Given the description of an element on the screen output the (x, y) to click on. 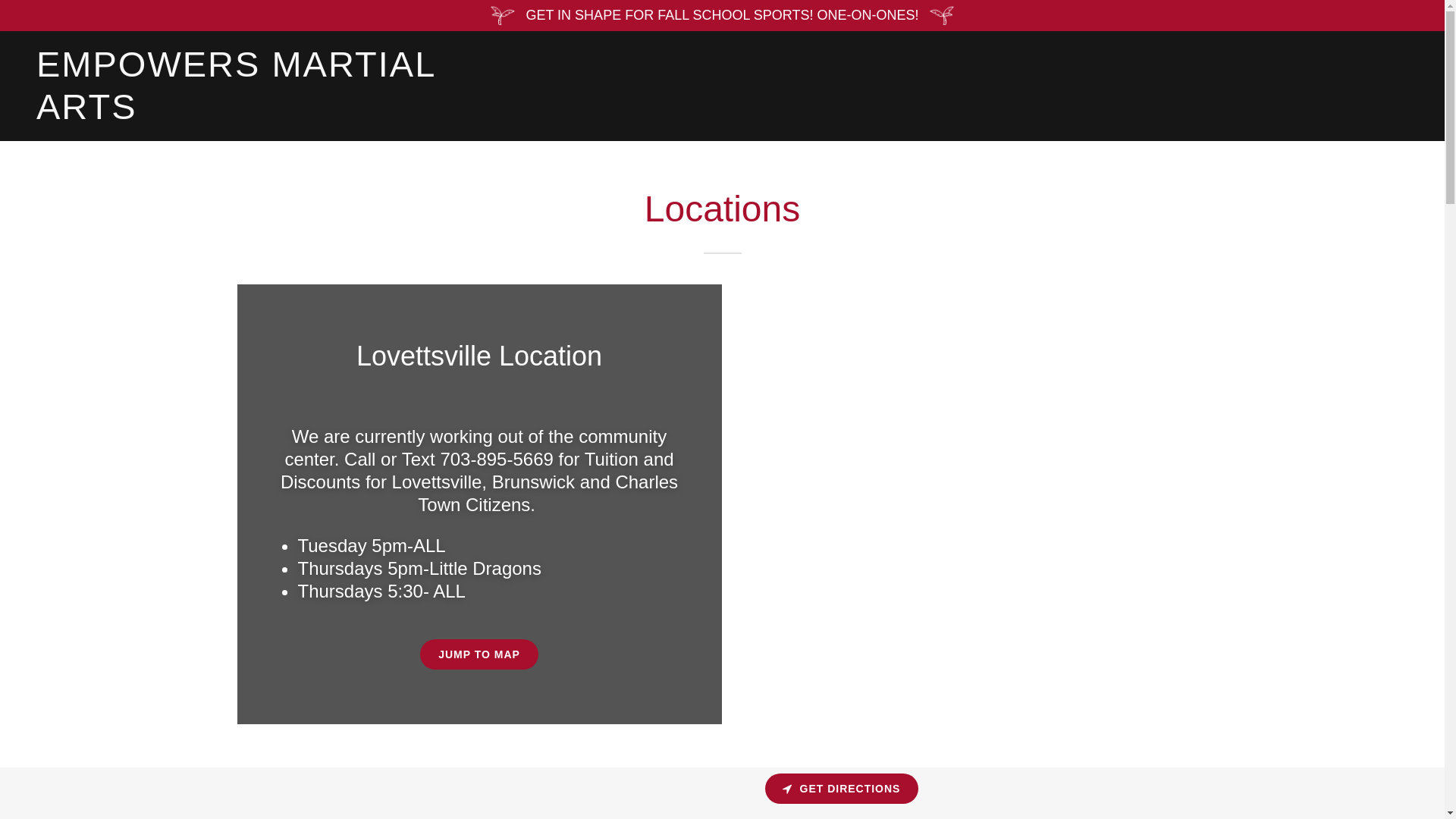
EMPOWERS MARTIAL ARTS (276, 114)
Empowers Martial Arts (276, 114)
